Given the description of an element on the screen output the (x, y) to click on. 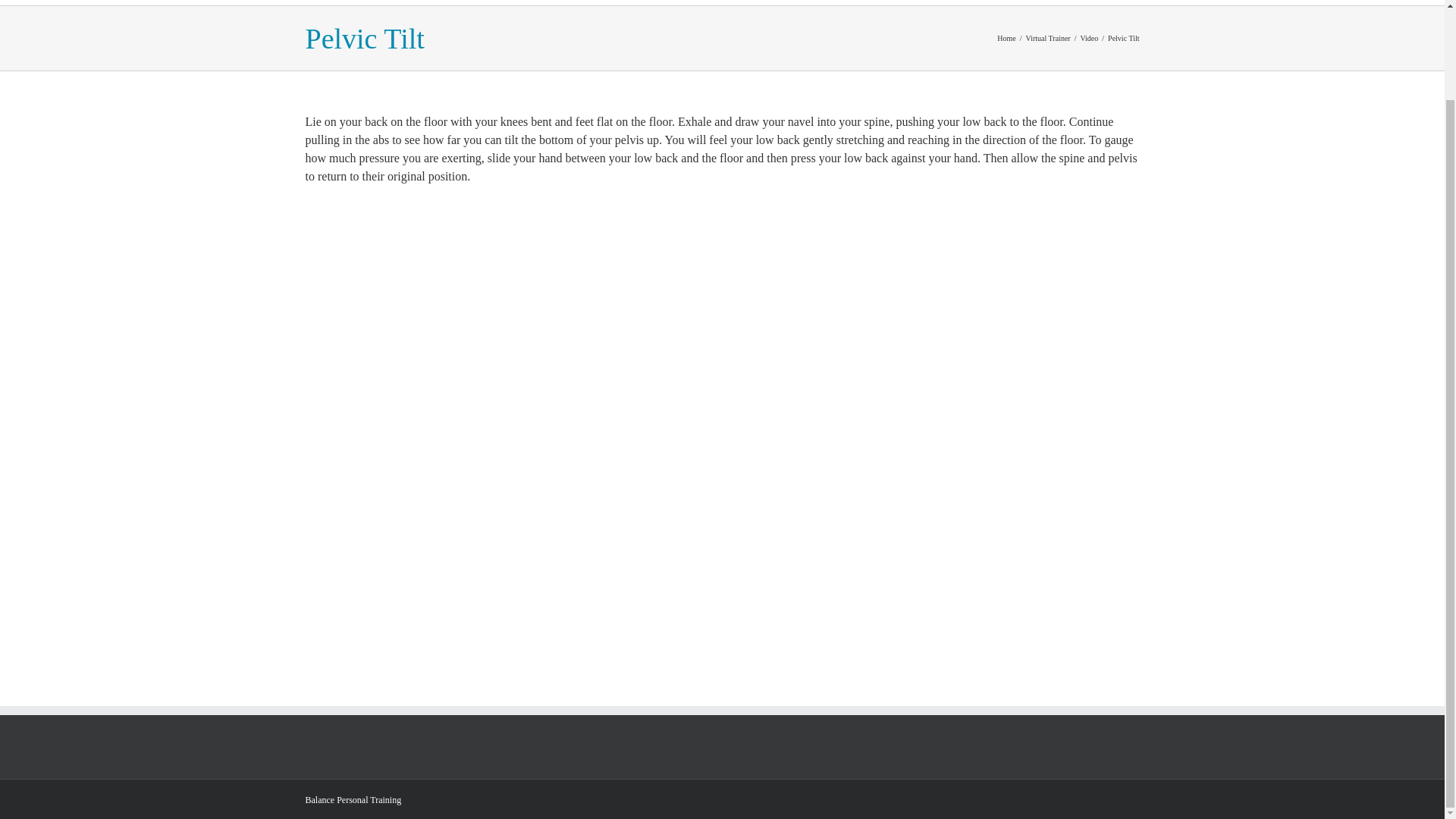
Video (1088, 38)
Virtual Trainer (1048, 38)
Home (1005, 38)
